Given the description of an element on the screen output the (x, y) to click on. 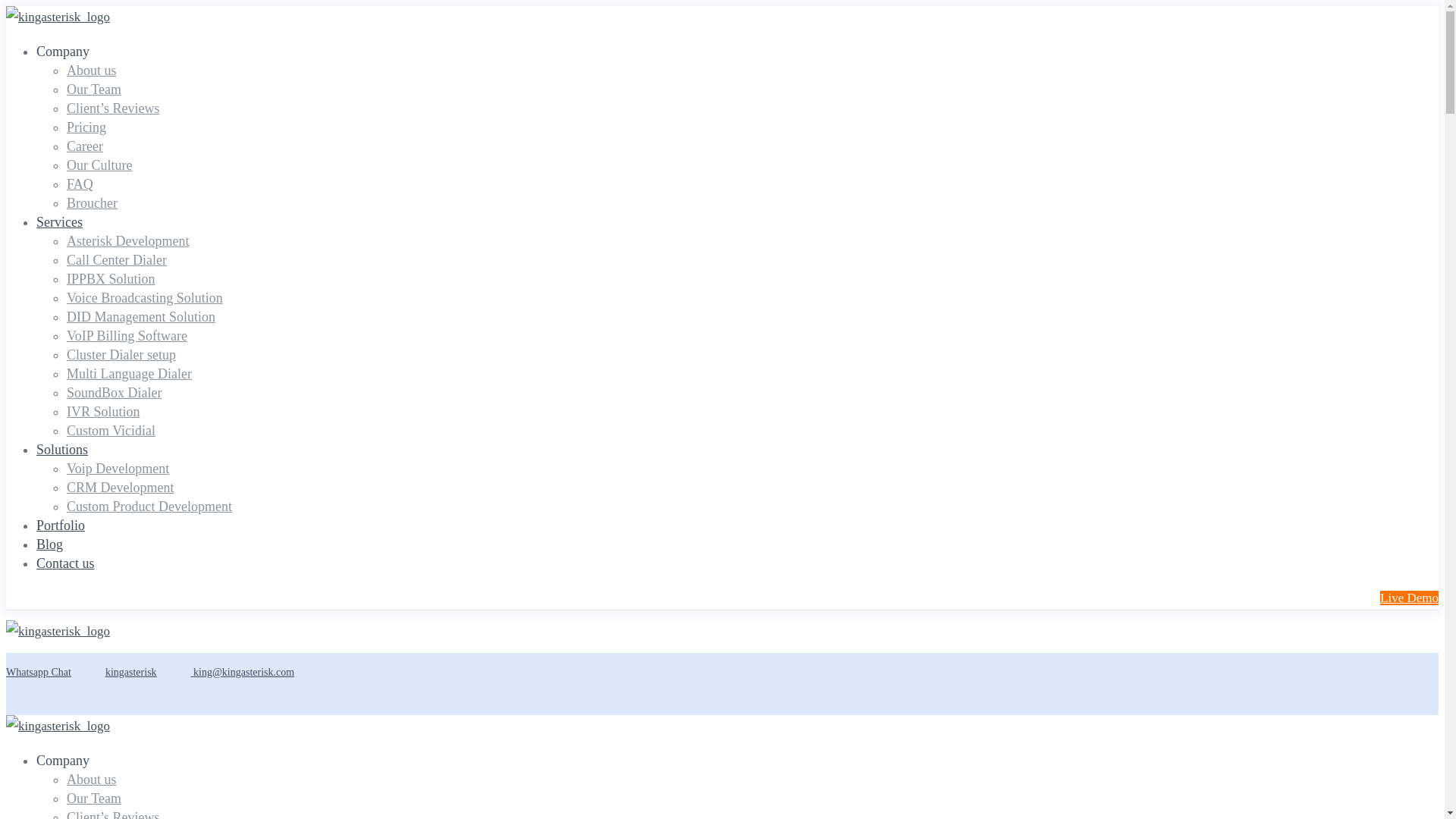
FAQ (79, 183)
Call Center Dialer (116, 259)
IPPBX Solution (110, 278)
Custom Vicidial (110, 430)
CRM Development (120, 487)
DID Management Solution (140, 316)
Broucher (91, 202)
SoundBox Dialer (113, 392)
Cluster Dialer setup (121, 354)
Our Culture (99, 165)
